Given the description of an element on the screen output the (x, y) to click on. 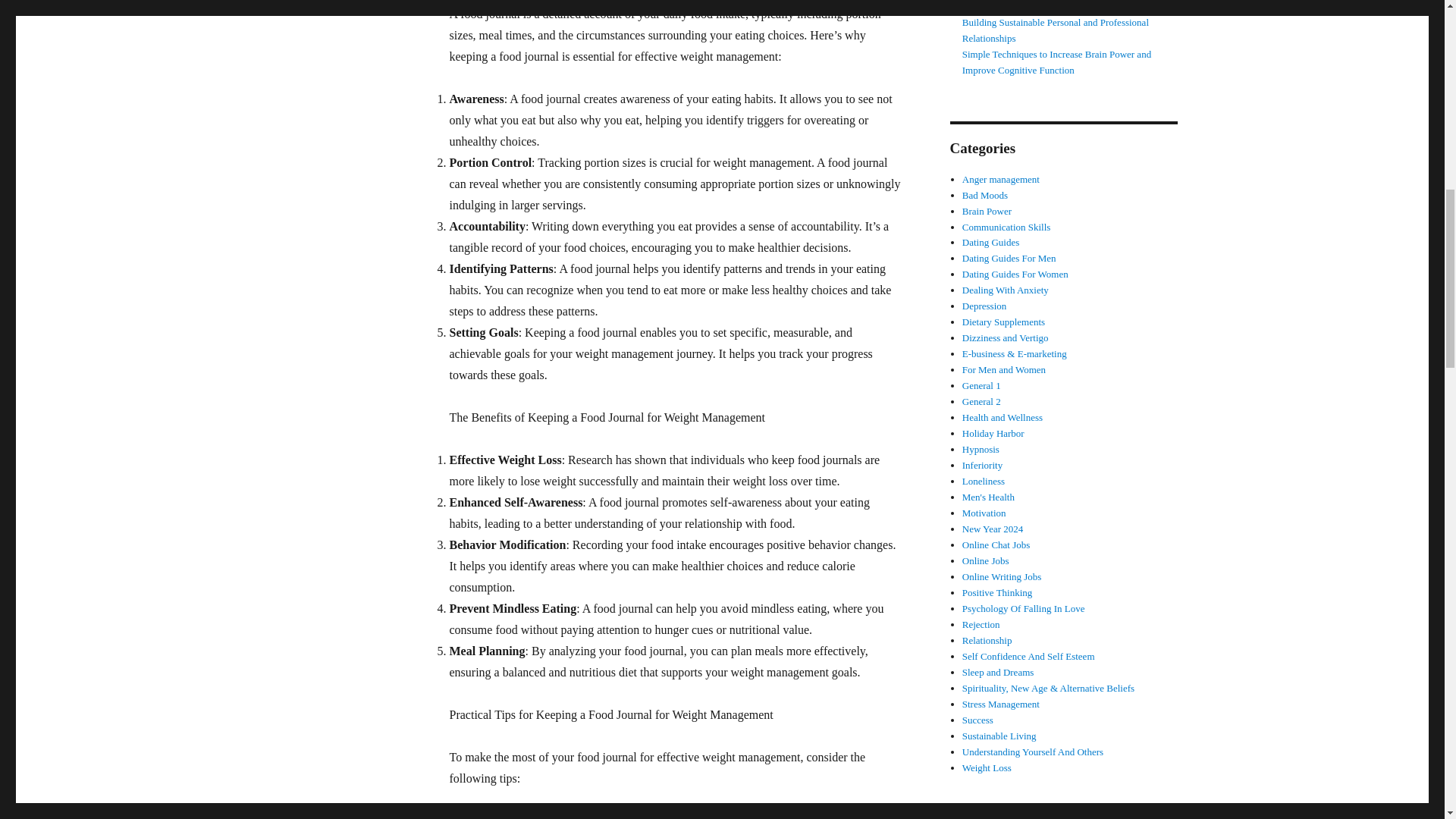
Depression (984, 306)
Hypnosis (980, 449)
Dating Guides For Men (1009, 257)
Dealing With Anxiety (1005, 289)
Brain Power (986, 211)
General 1 (981, 385)
Holiday Harbor (993, 432)
Men's Health (988, 496)
Anger management (1000, 179)
